Given the description of an element on the screen output the (x, y) to click on. 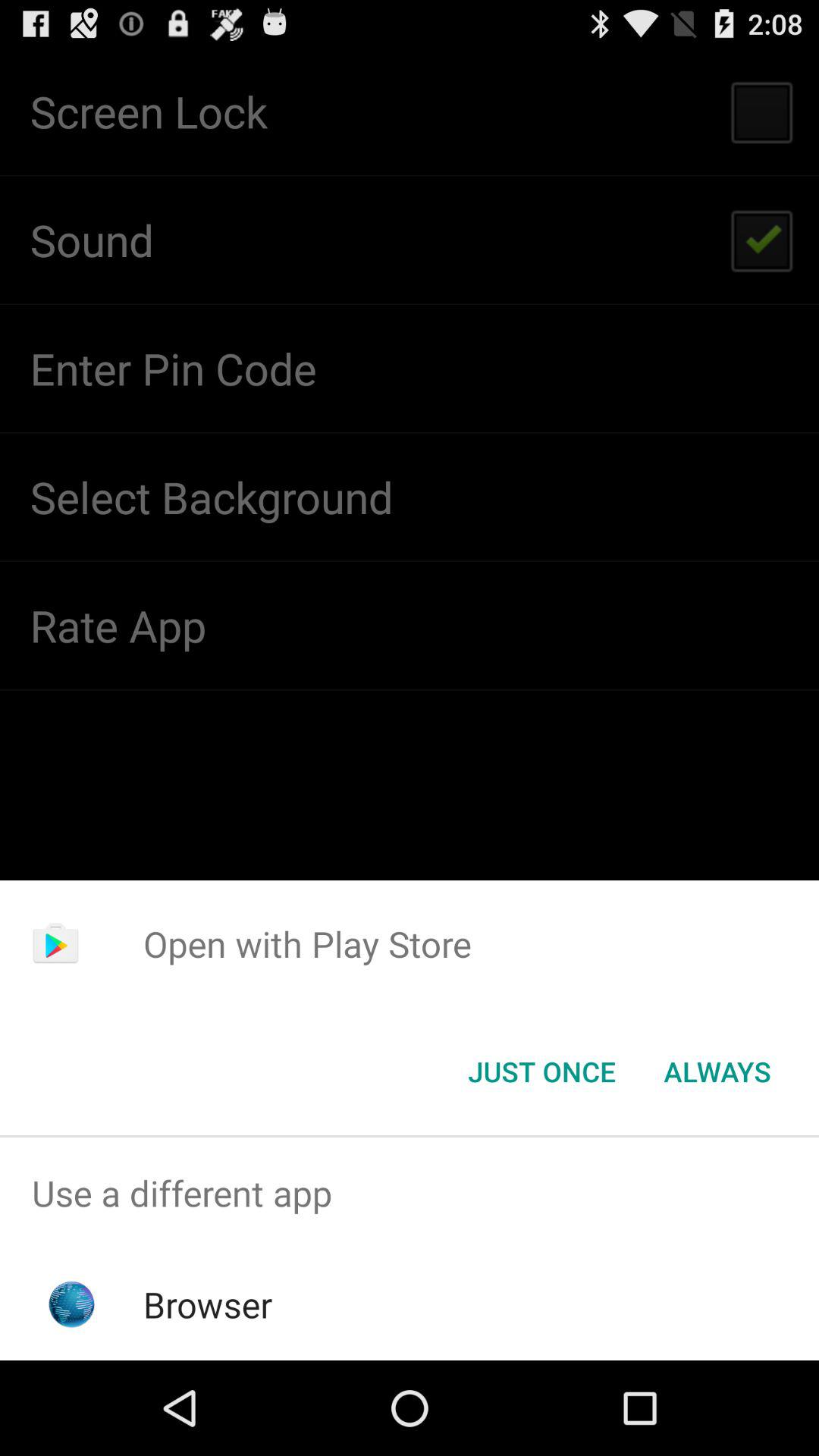
jump until the always item (717, 1071)
